Given the description of an element on the screen output the (x, y) to click on. 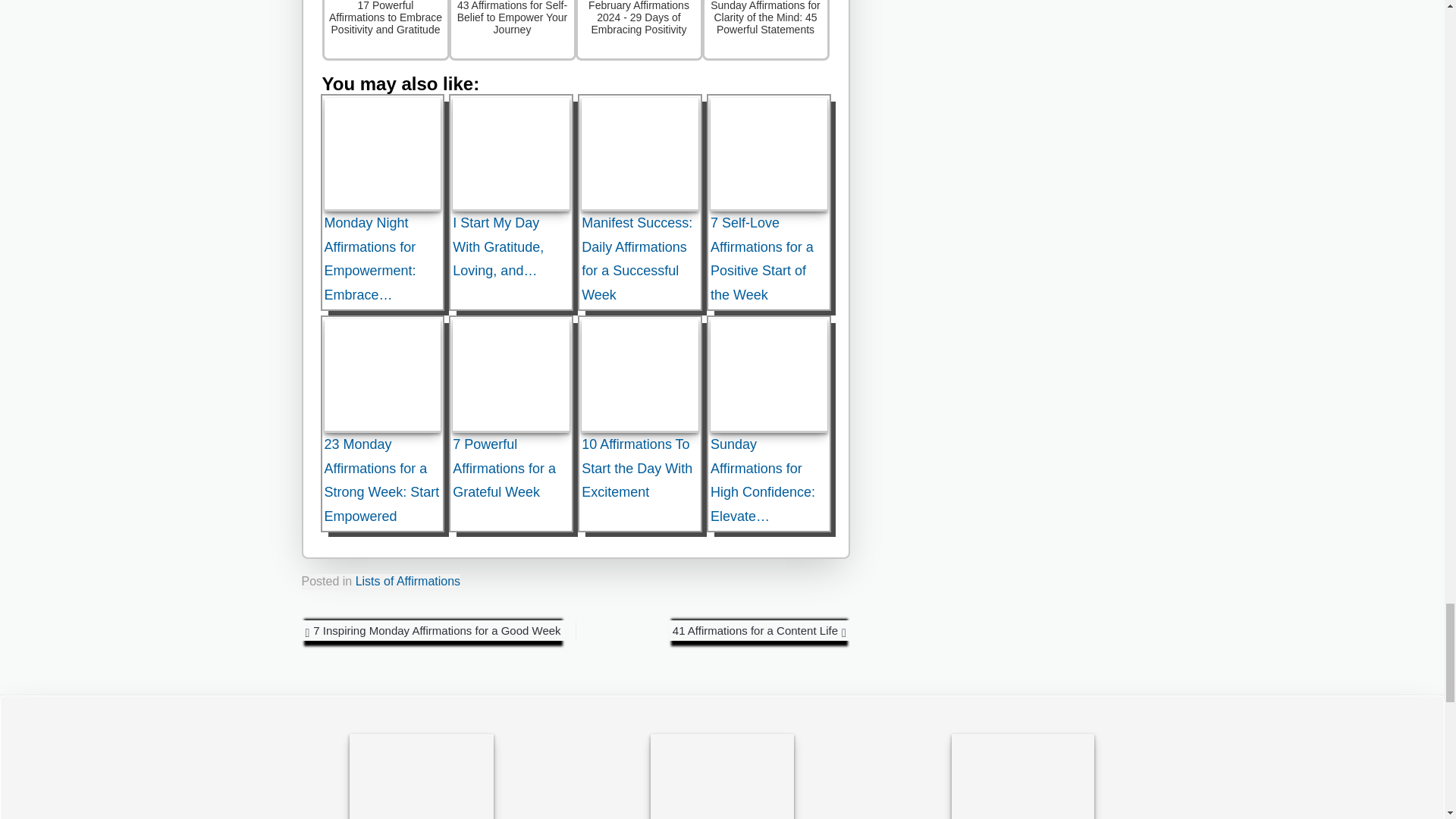
10 Affirmations To Start the Day With Excitement (640, 376)
7 Powerful Affirmations for a Grateful Week (510, 376)
Manifest Success: Daily Affirmations for a Successful Week (640, 154)
7 Self-Love Affirmations for a Positive Start of the Week (768, 154)
23 Monday Affirmations for a Strong Week: Start Empowered (381, 376)
